Given the description of an element on the screen output the (x, y) to click on. 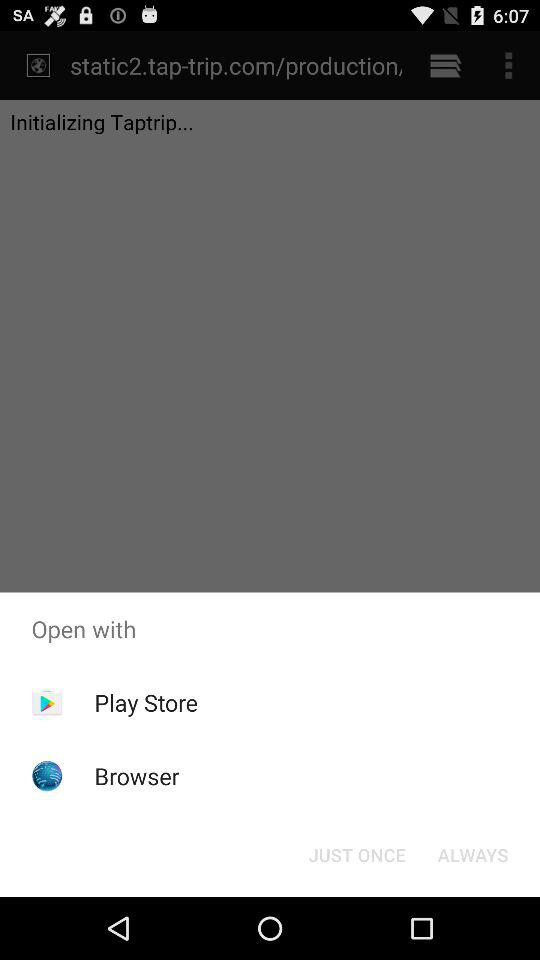
turn on the just once icon (356, 854)
